Given the description of an element on the screen output the (x, y) to click on. 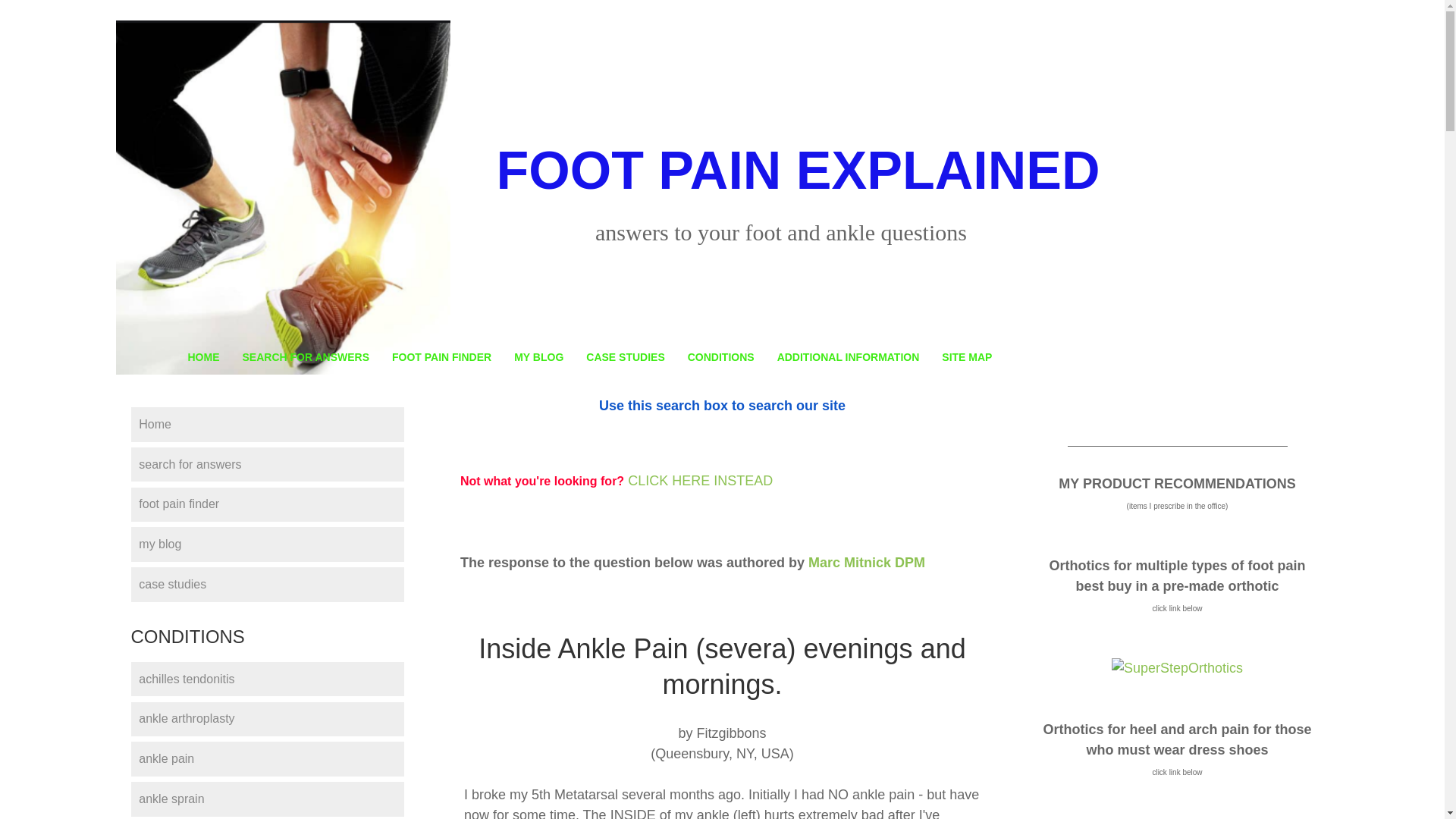
CASE STUDIES (625, 356)
FOOT PAIN EXPLAINED (797, 169)
MY BLOG (538, 356)
FOOT PAIN FINDER (441, 356)
HOME (203, 356)
SEARCH FOR ANSWERS (305, 356)
